Given the description of an element on the screen output the (x, y) to click on. 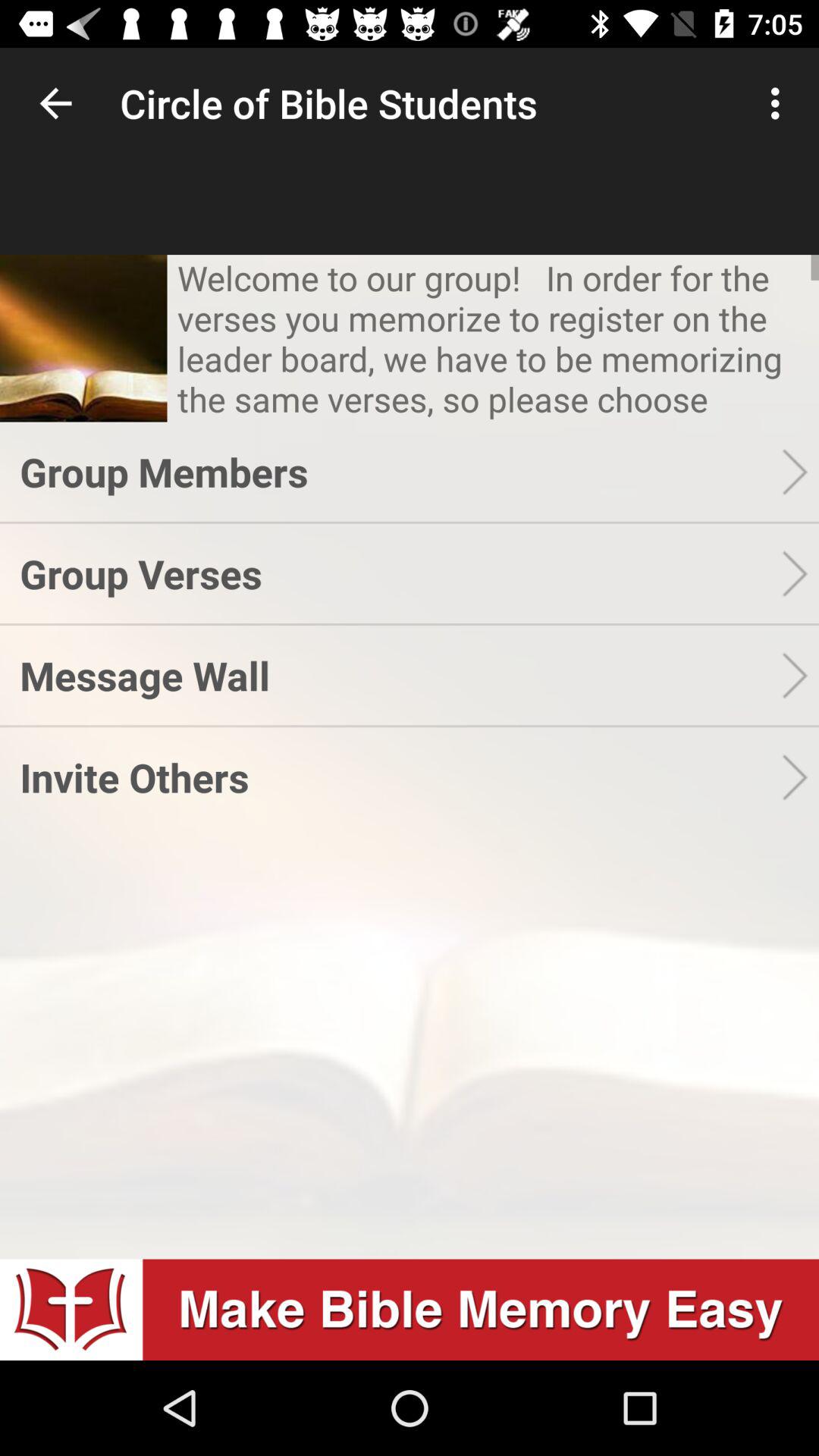
open app below the group verses app (399, 675)
